Given the description of an element on the screen output the (x, y) to click on. 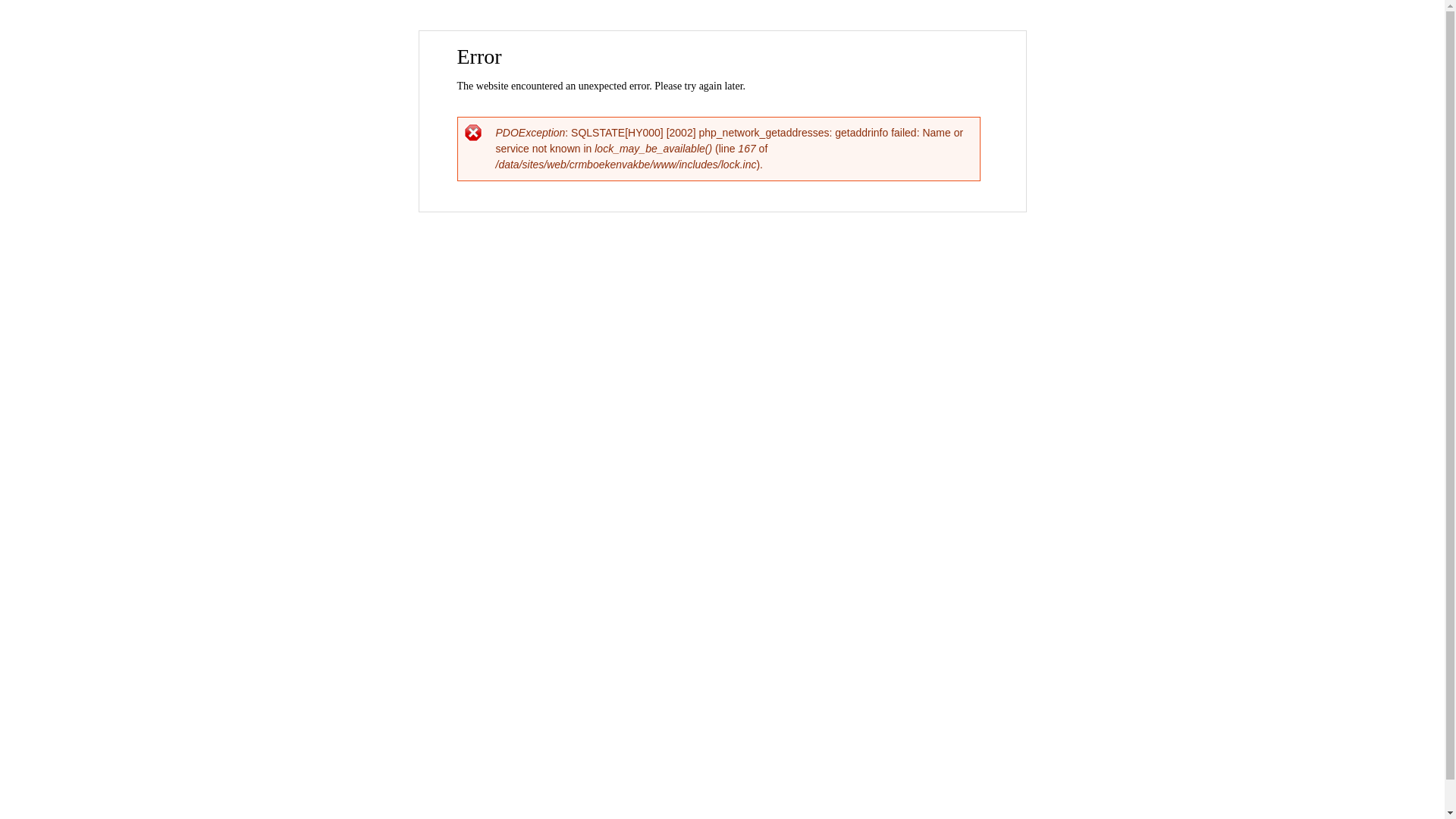
Skip to main content Element type: text (690, 31)
